Given the description of an element on the screen output the (x, y) to click on. 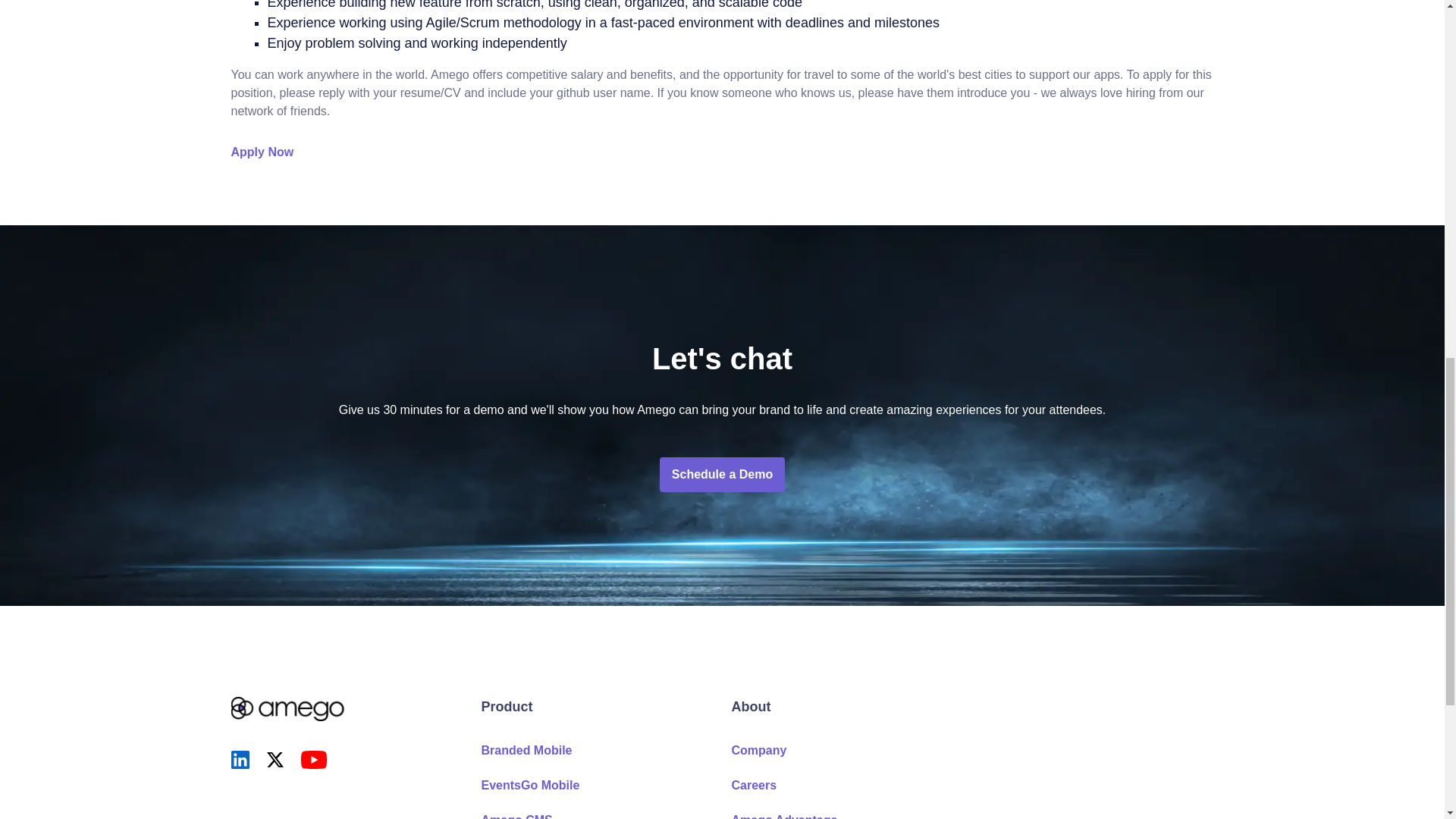
EventsGo Mobile (529, 784)
Amego CMS (515, 816)
Careers (753, 784)
Branded Mobile (526, 749)
Schedule a Demo (721, 474)
Apply Now (262, 151)
Company (758, 749)
Amego Advantage (783, 816)
